Given the description of an element on the screen output the (x, y) to click on. 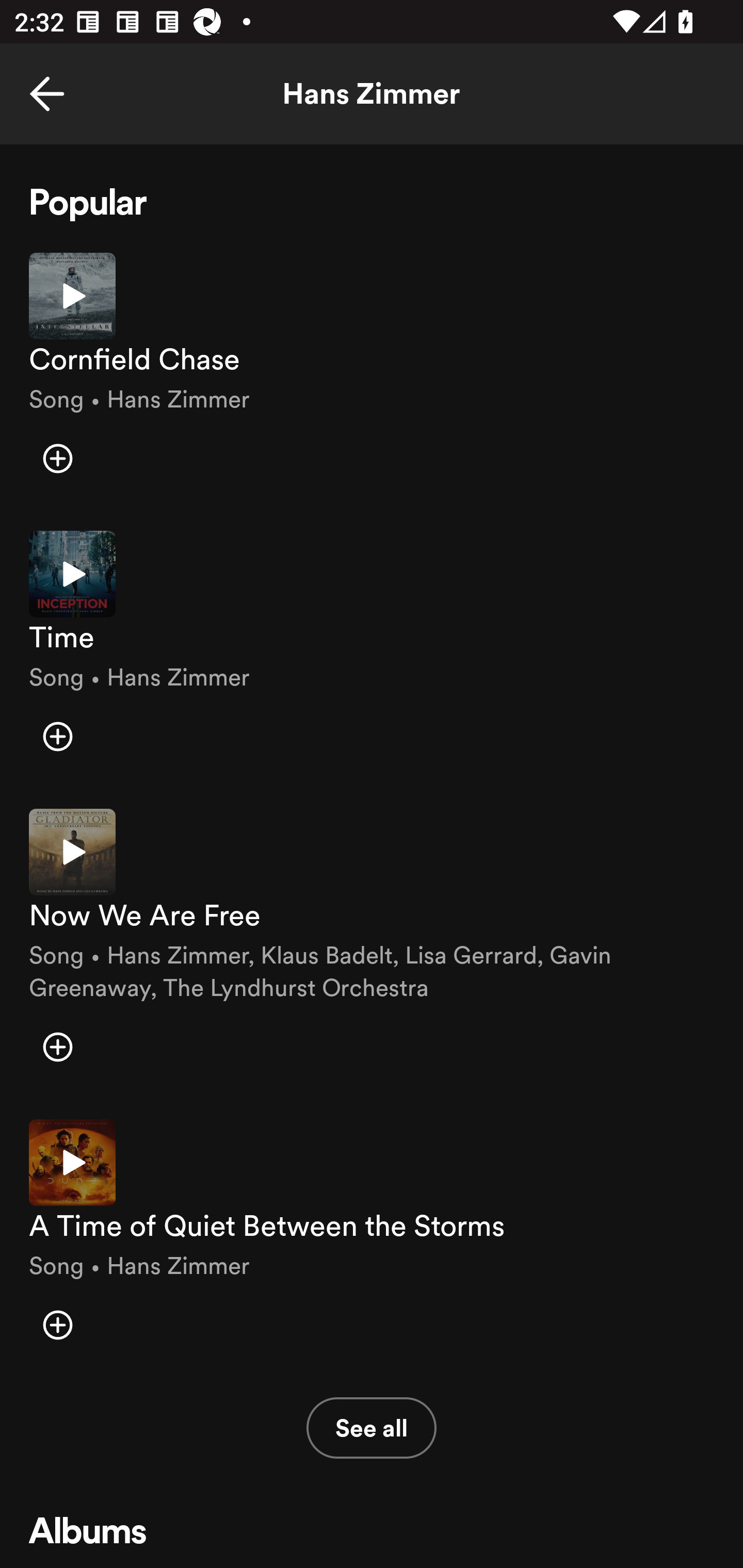
Back (46, 93)
Play preview (71, 295)
Add item (57, 458)
Play preview Time Song • Hans Zimmer Add item (371, 654)
Play preview (71, 573)
Add item (57, 736)
Play preview (71, 852)
Add item (57, 1046)
Play preview (71, 1162)
Add item (57, 1324)
See all (371, 1427)
